Given the description of an element on the screen output the (x, y) to click on. 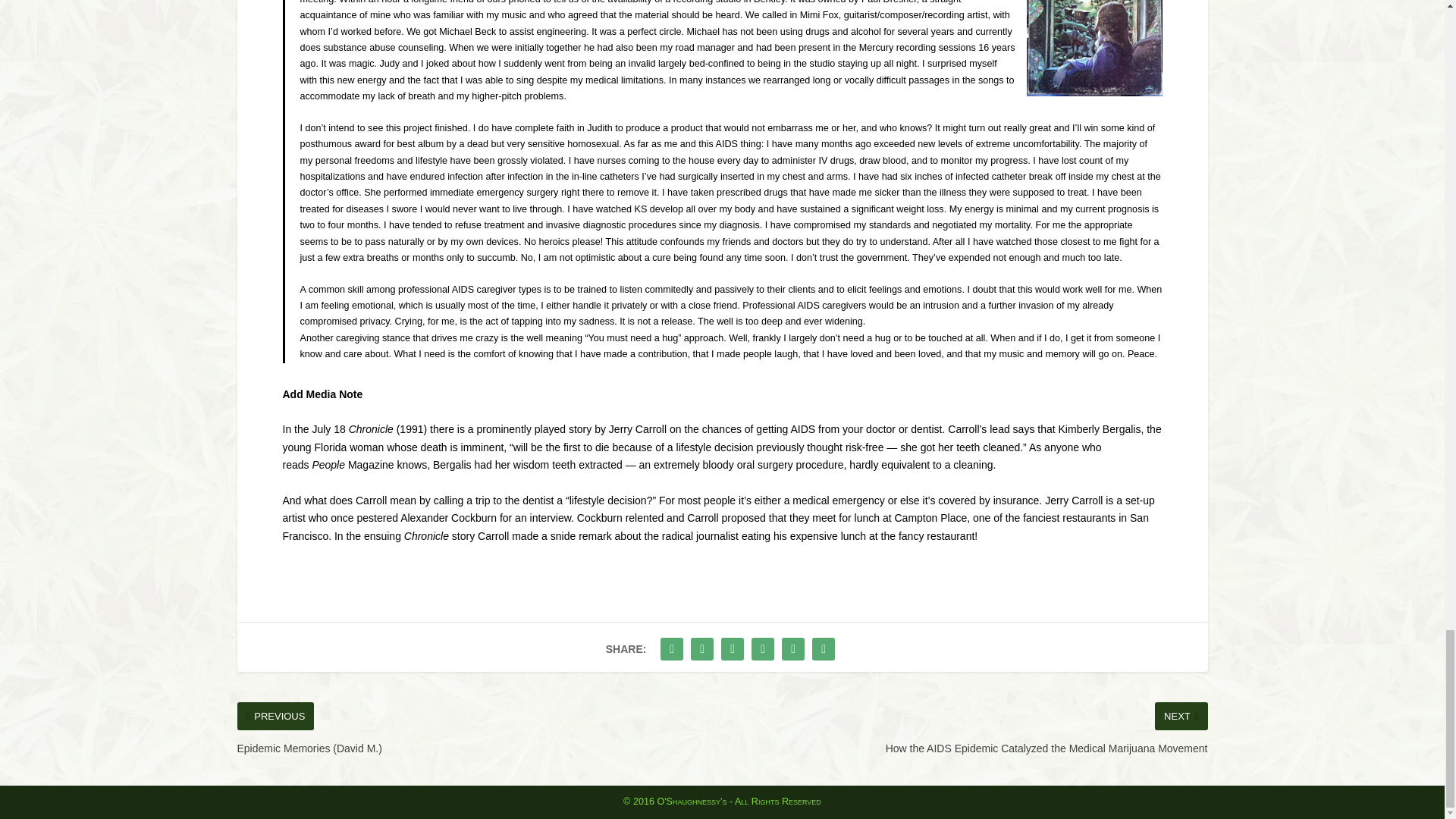
Share "The Party for David M." via LinkedIn (762, 648)
Share "The Party for David M." via Print (823, 648)
Share "The Party for David M." via Email (792, 648)
Share "The Party for David M." via Twitter (702, 648)
Share "The Party for David M." via Facebook (671, 648)
